Given the description of an element on the screen output the (x, y) to click on. 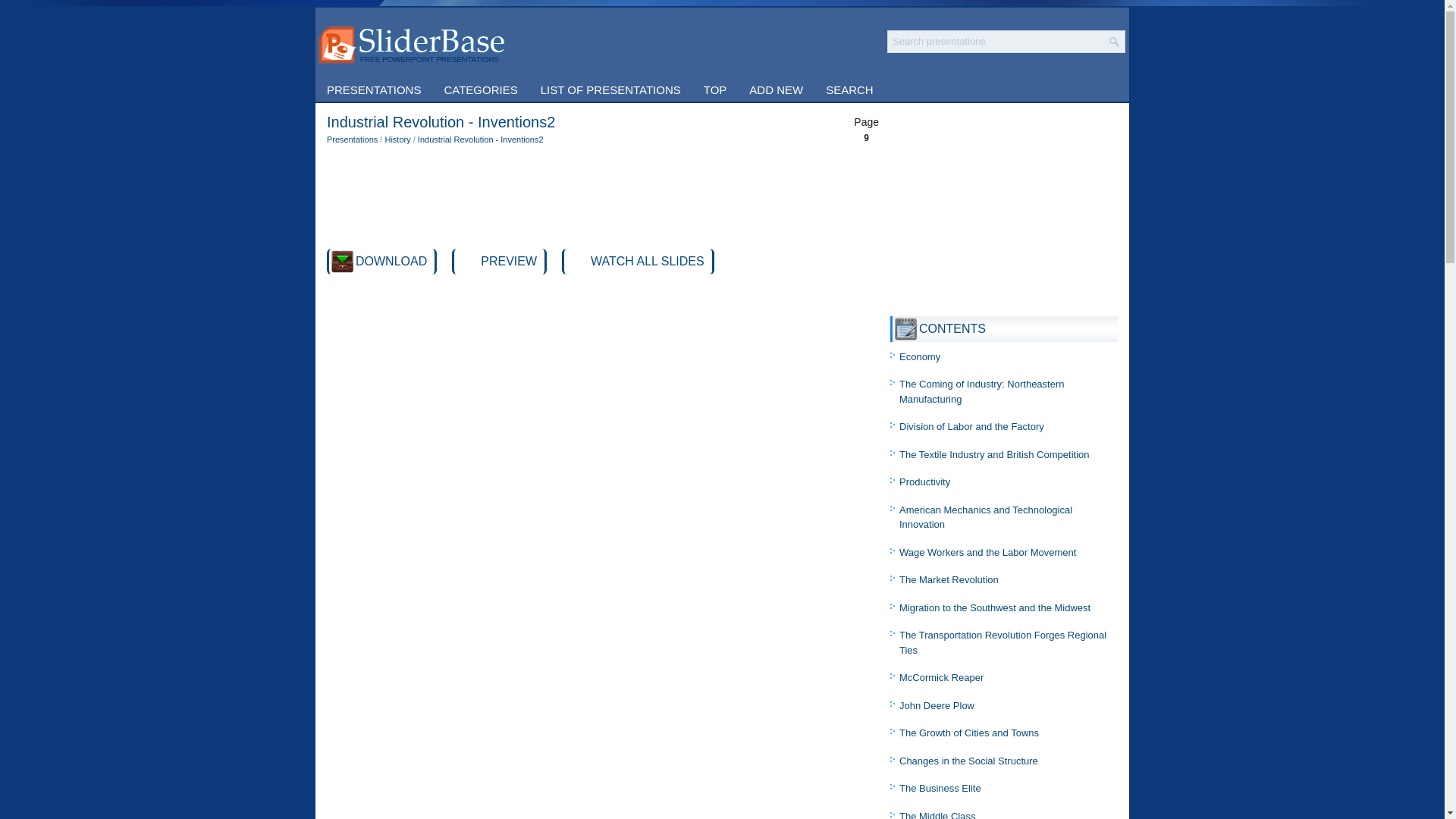
Presentations (351, 139)
PRESENTATIONS (373, 90)
ADD NEW (775, 90)
Search presentations (996, 41)
CATEGORIES (480, 90)
DOWNLOAD (390, 261)
PREVIEW (508, 261)
LIST OF PRESENTATIONS (611, 90)
WATCH ALL SLIDES (647, 260)
Industrial Revolution - Inventions2 (480, 139)
